Given the description of an element on the screen output the (x, y) to click on. 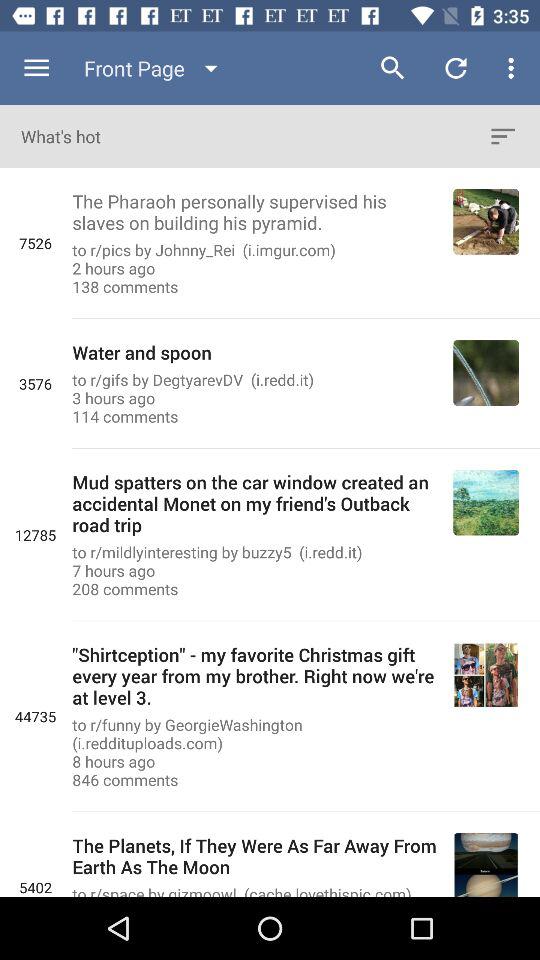
press icon above the what's hot item (155, 67)
